Given the description of an element on the screen output the (x, y) to click on. 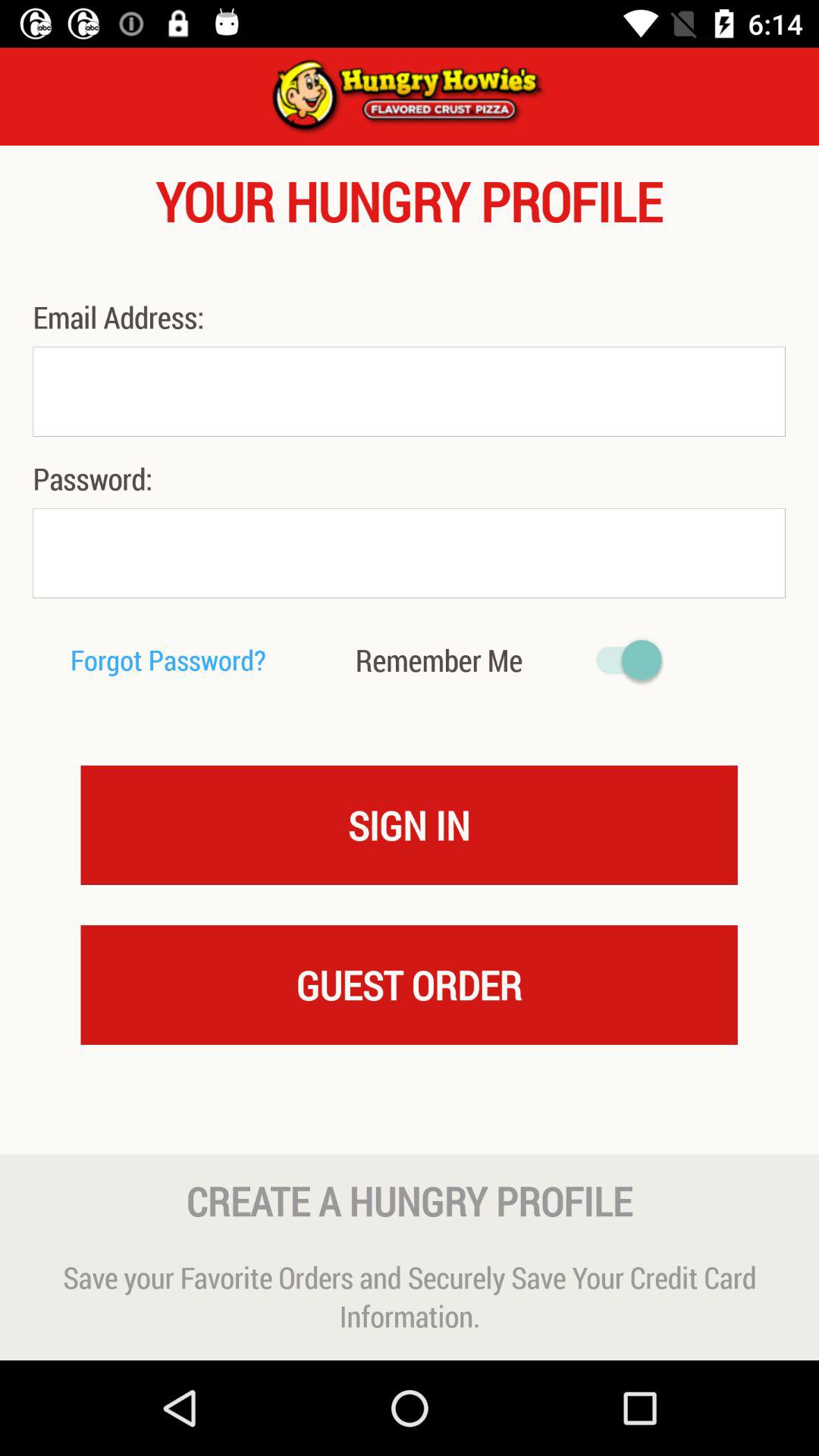
launch the icon above the save your favorite icon (409, 1200)
